Given the description of an element on the screen output the (x, y) to click on. 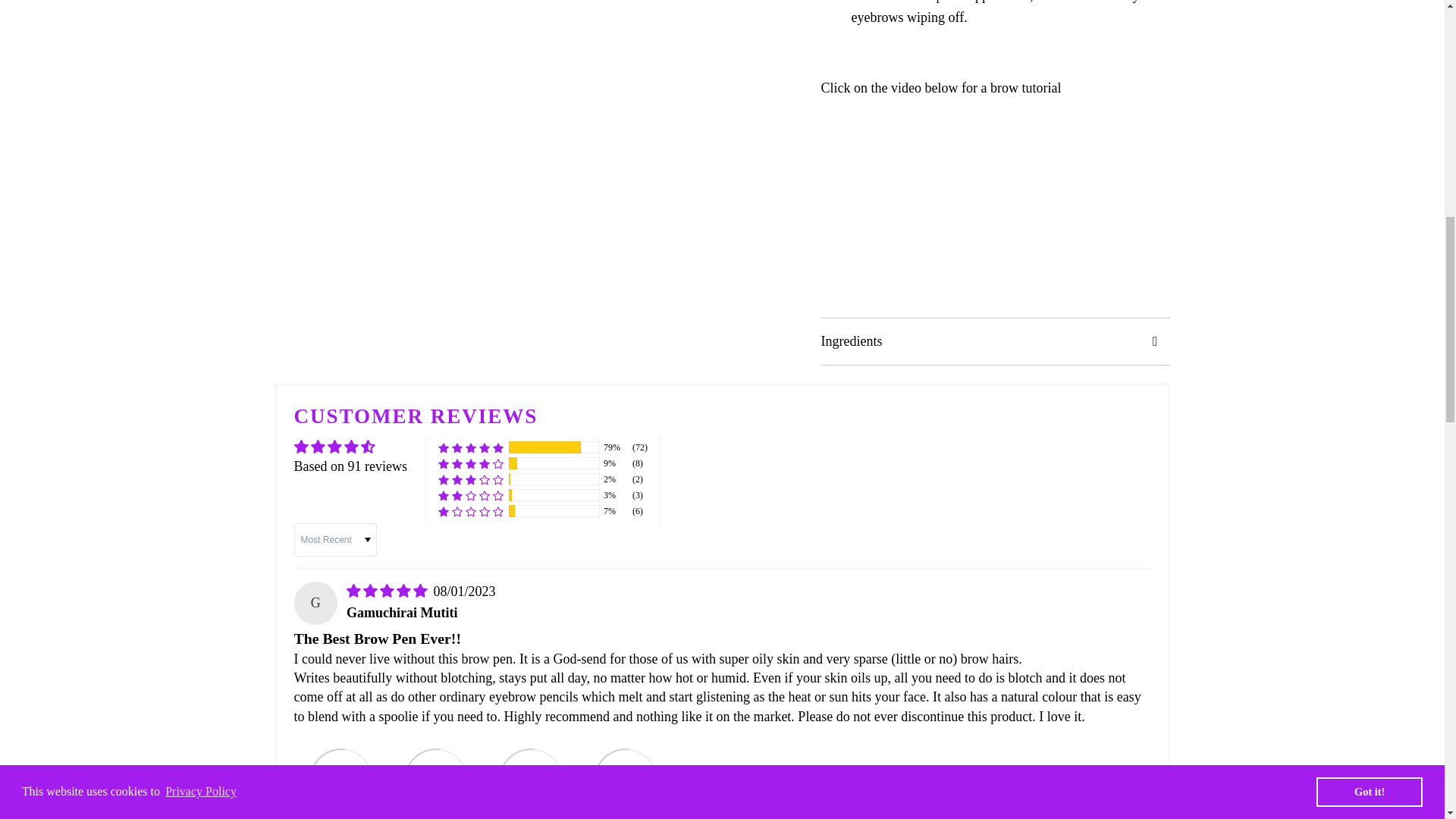
Embedded Youtube Video (995, 207)
